Given the description of an element on the screen output the (x, y) to click on. 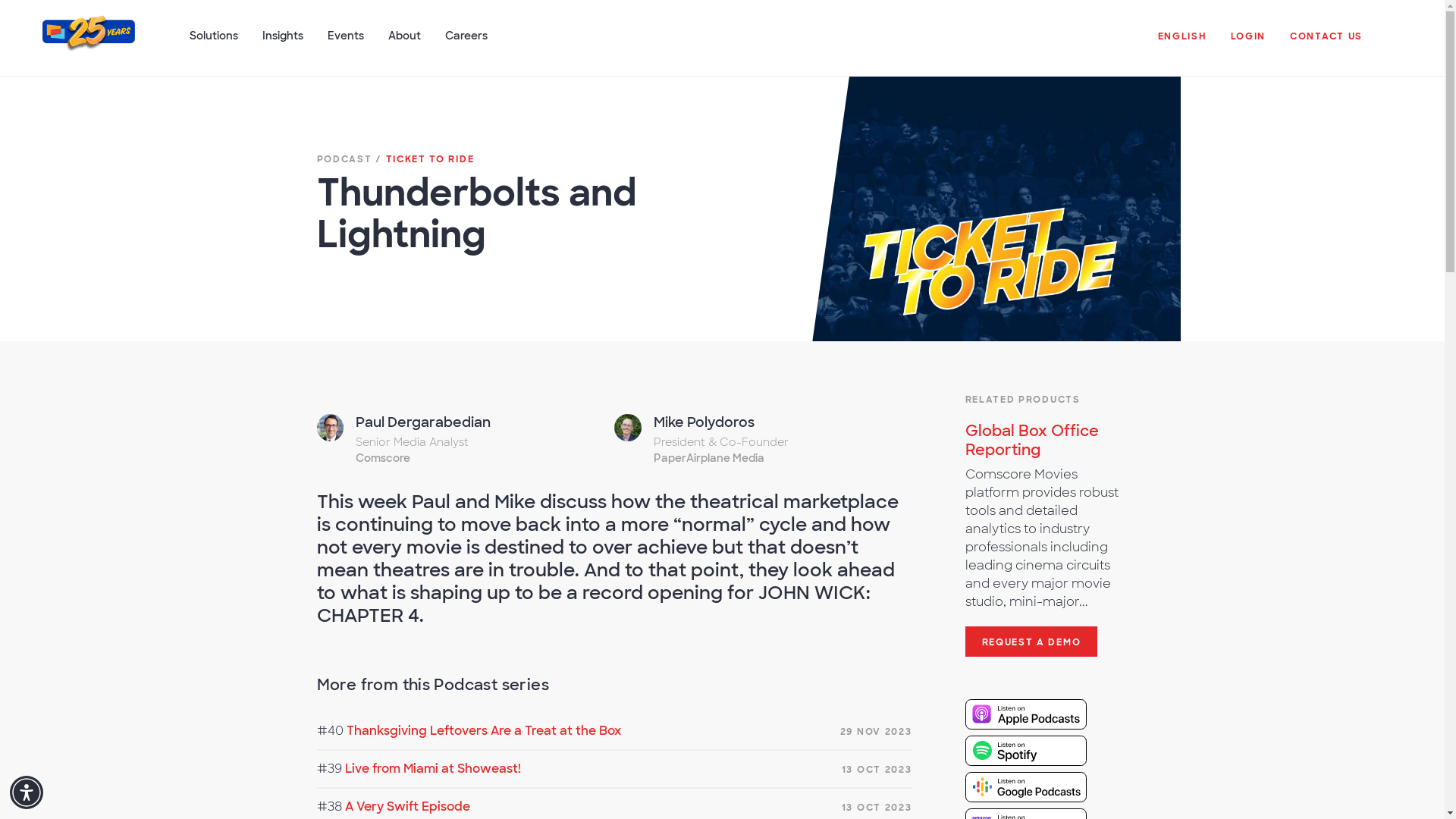
Solutions (213, 43)
Accessibility Menu (26, 792)
Insights (282, 43)
About (403, 43)
Events (345, 43)
Home (88, 44)
Solutions (213, 43)
